Given the description of an element on the screen output the (x, y) to click on. 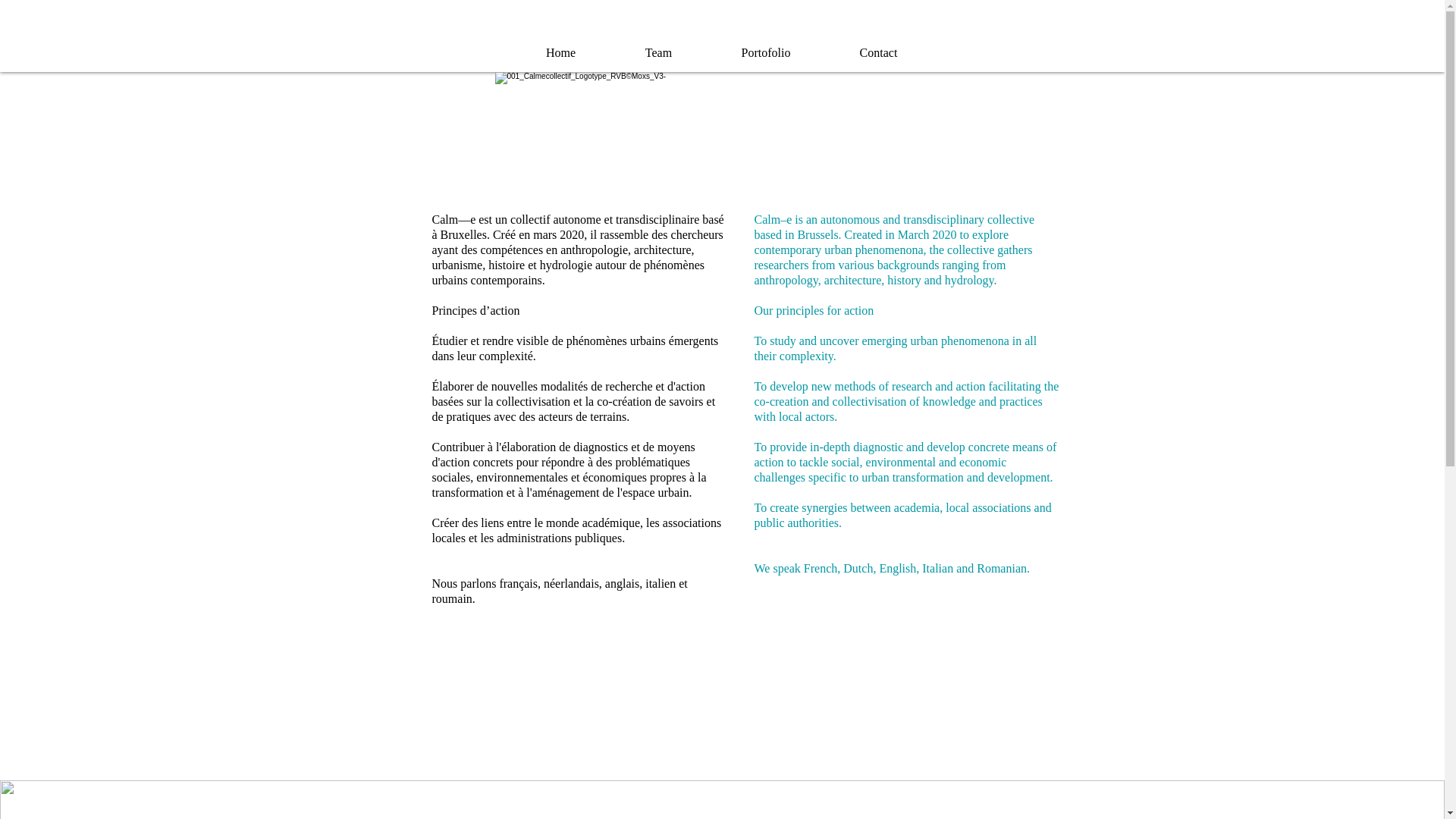
Home Element type: text (560, 52)
Portofolio Element type: text (765, 52)
Contact Element type: text (878, 52)
Team Element type: text (658, 52)
